Given the description of an element on the screen output the (x, y) to click on. 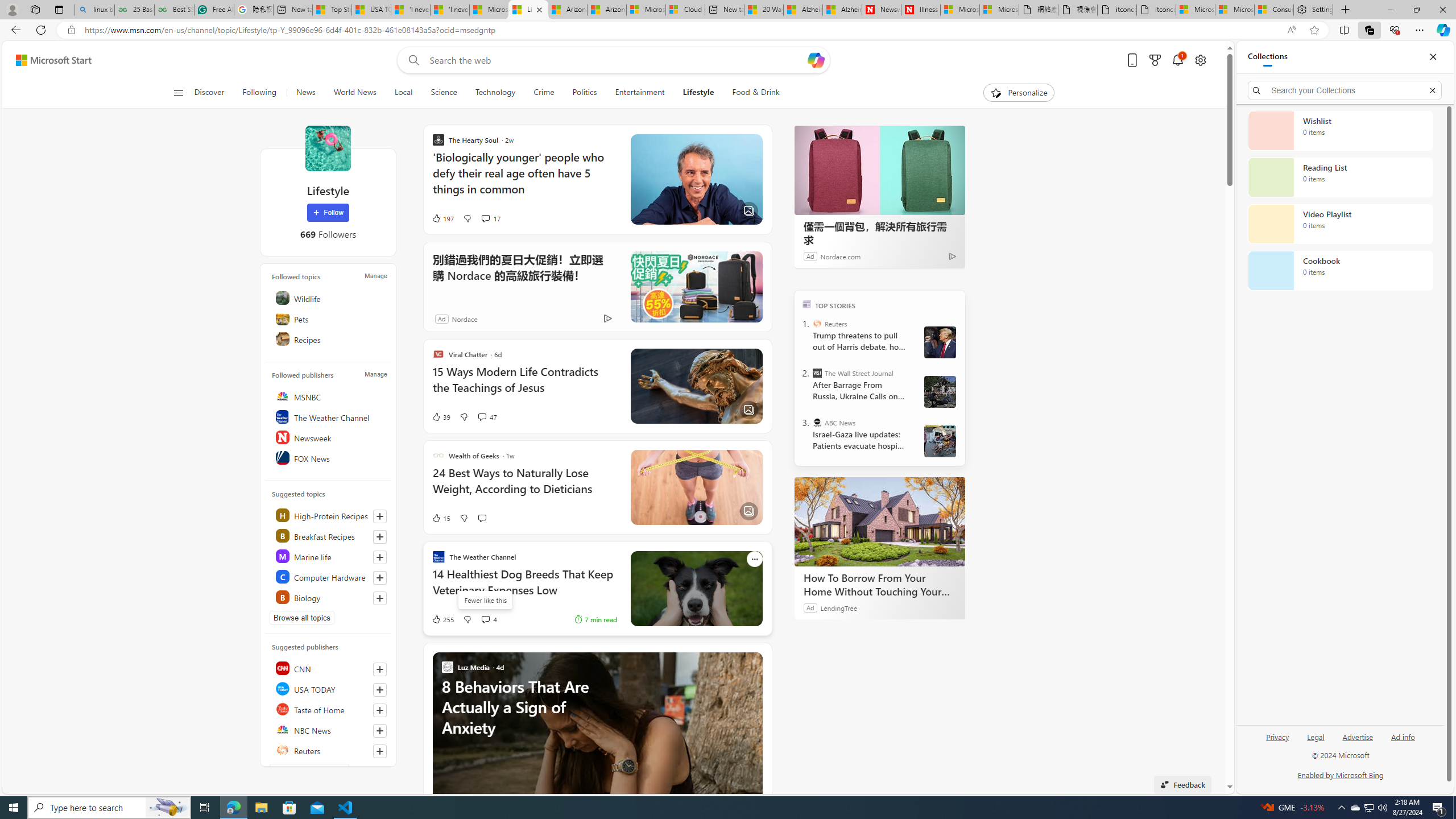
Entertainment (639, 92)
Food & Drink (751, 92)
Follow this topic (379, 597)
Entertainment (639, 92)
Pets (328, 318)
Class: highlight (328, 597)
View comments 4 Comment (485, 619)
